Given the description of an element on the screen output the (x, y) to click on. 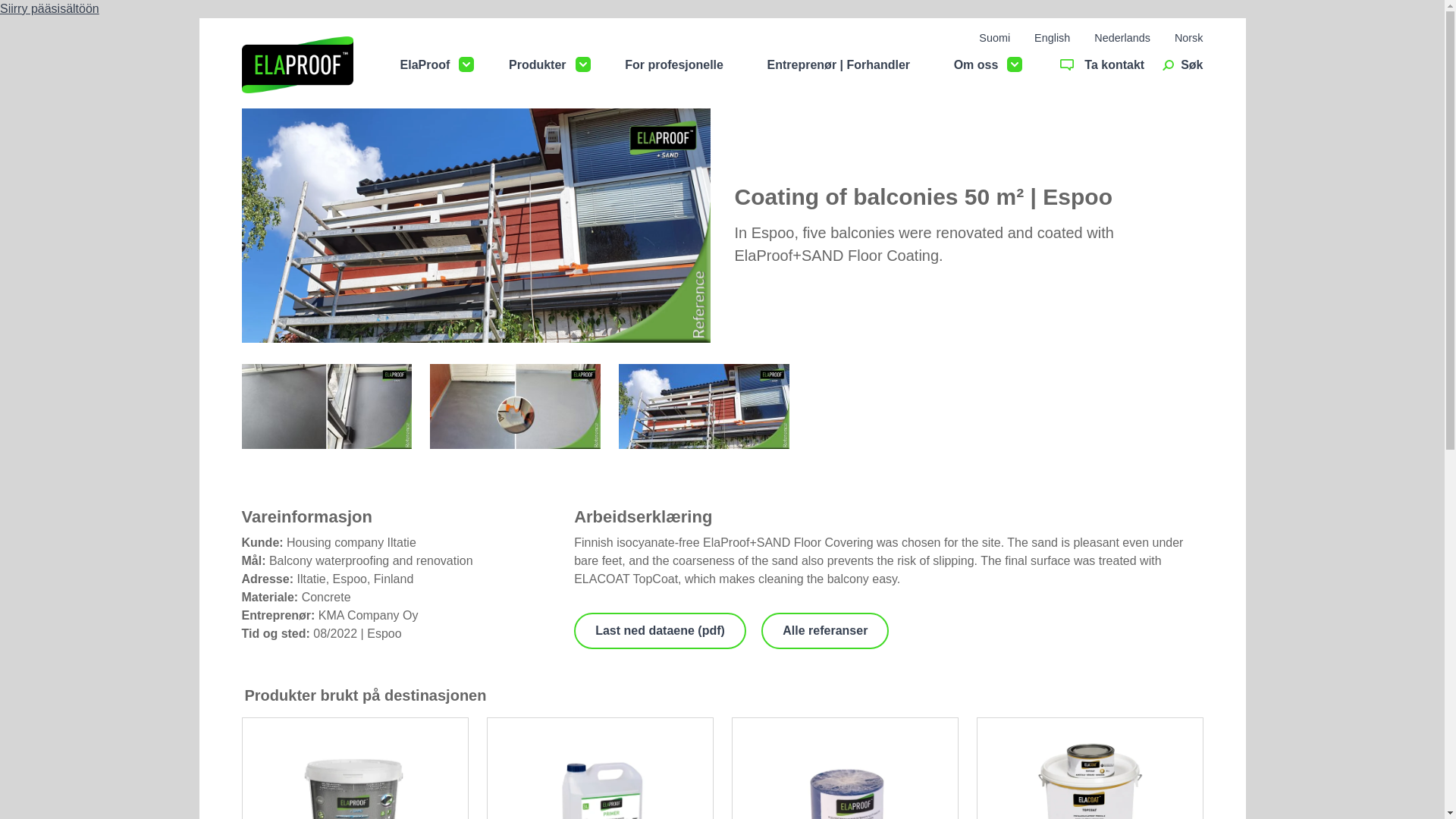
Nederlands (1122, 37)
Suomi (994, 37)
ElaProof (425, 65)
English (1051, 37)
Norsk (1189, 37)
